Given the description of an element on the screen output the (x, y) to click on. 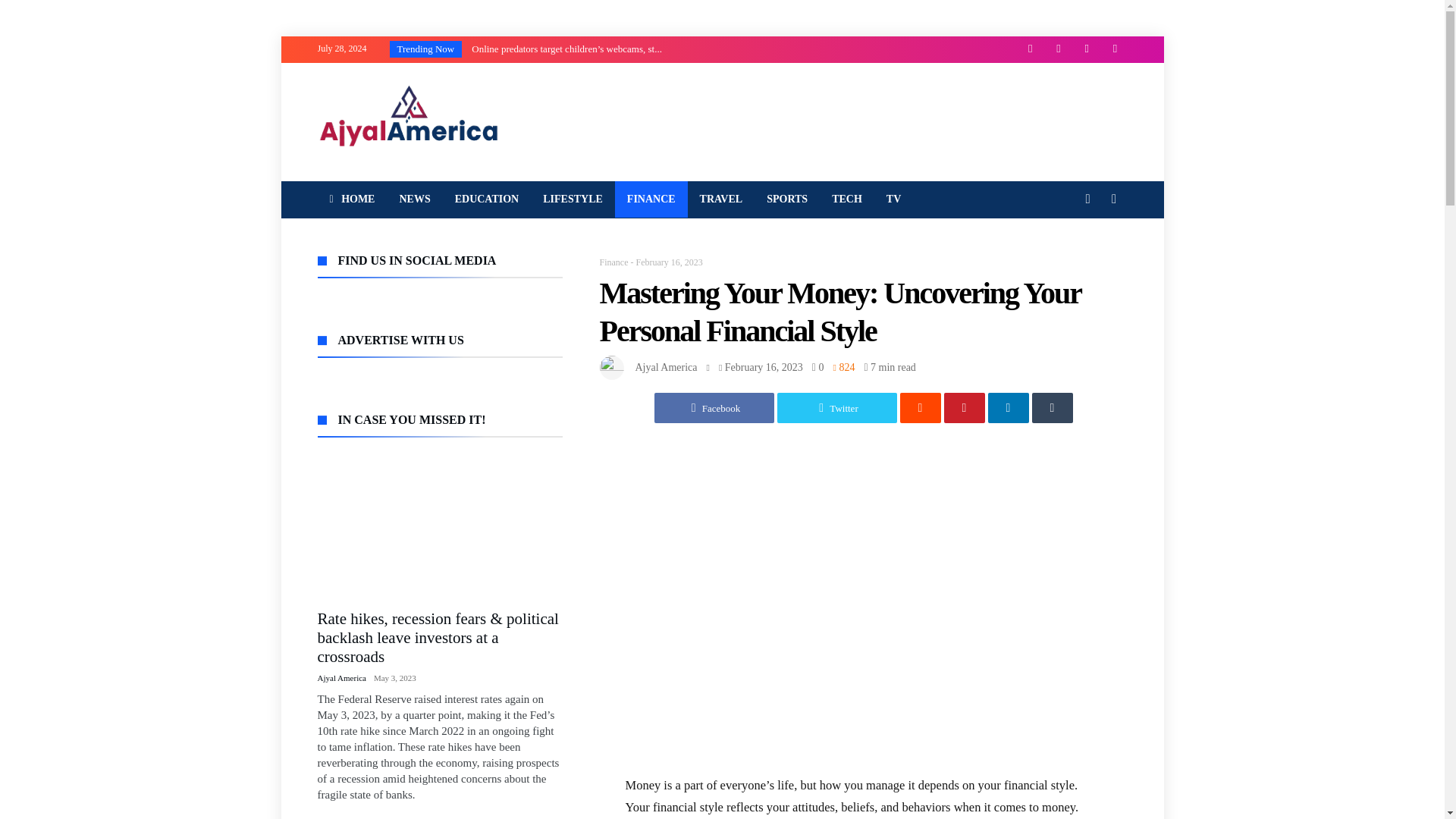
facebook (713, 408)
Ajyal America (665, 367)
Finance (612, 262)
Ajyal America (408, 85)
Ajyal America (665, 367)
SPORTS (786, 198)
TRAVEL (721, 198)
pinterest (963, 408)
LIFESTYLE (572, 198)
Youtube (1086, 49)
Twitter (1058, 49)
linkedin (1007, 408)
0 (818, 367)
Rss (1114, 49)
reddit (919, 408)
